Given the description of an element on the screen output the (x, y) to click on. 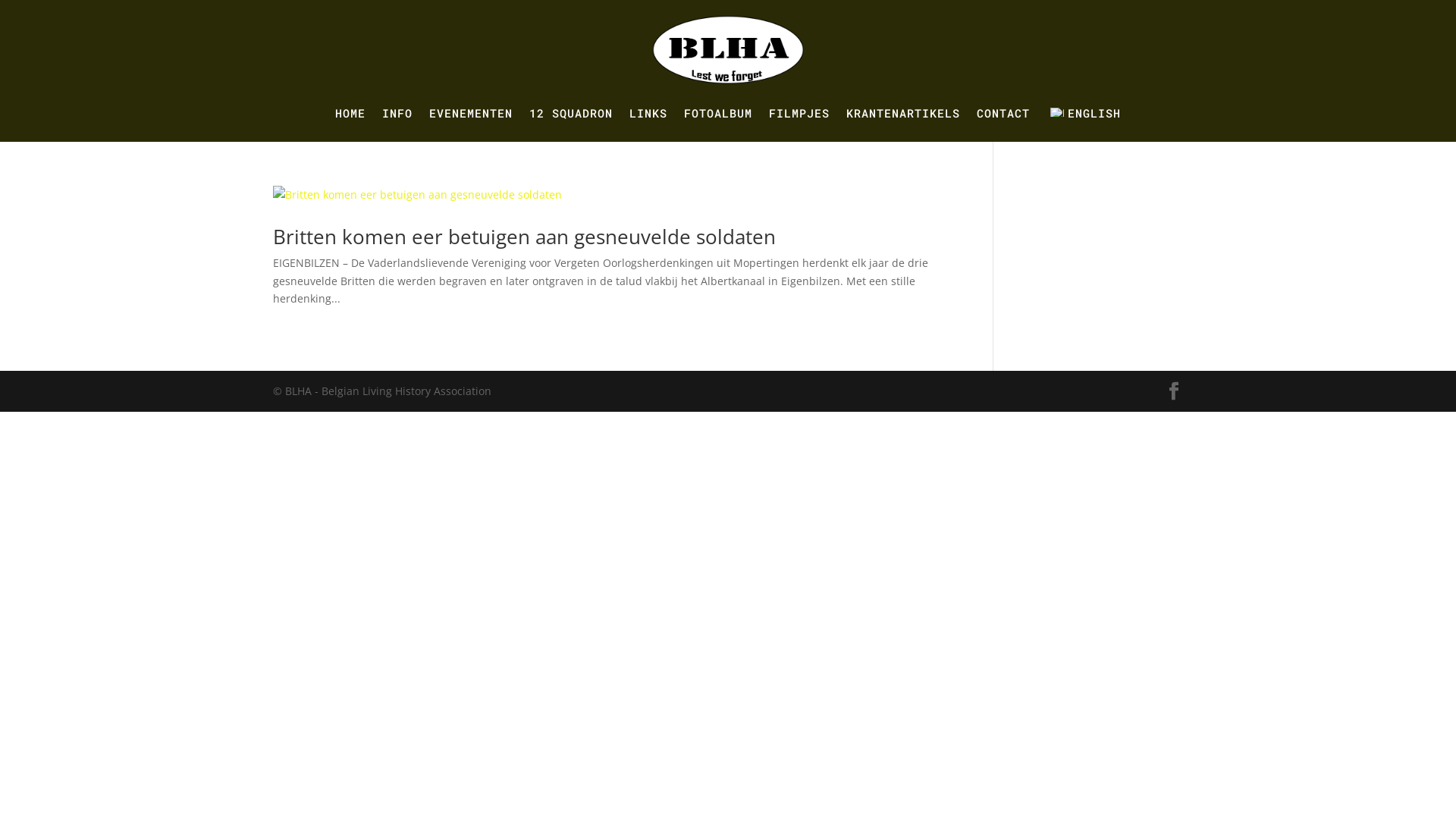
CONTACT Element type: text (1002, 112)
HOME Element type: text (350, 112)
Britten komen eer betuigen aan gesneuvelde soldaten Element type: text (524, 236)
English Element type: hover (1056, 111)
EVENEMENTEN Element type: text (470, 112)
LINKS Element type: text (648, 112)
ENGLISH Element type: text (1083, 112)
FOTOALBUM Element type: text (718, 112)
INFO Element type: text (397, 112)
KRANTENARTIKELS Element type: text (903, 112)
12 SQUADRON Element type: text (570, 112)
FILMPJES Element type: text (798, 112)
